Given the description of an element on the screen output the (x, y) to click on. 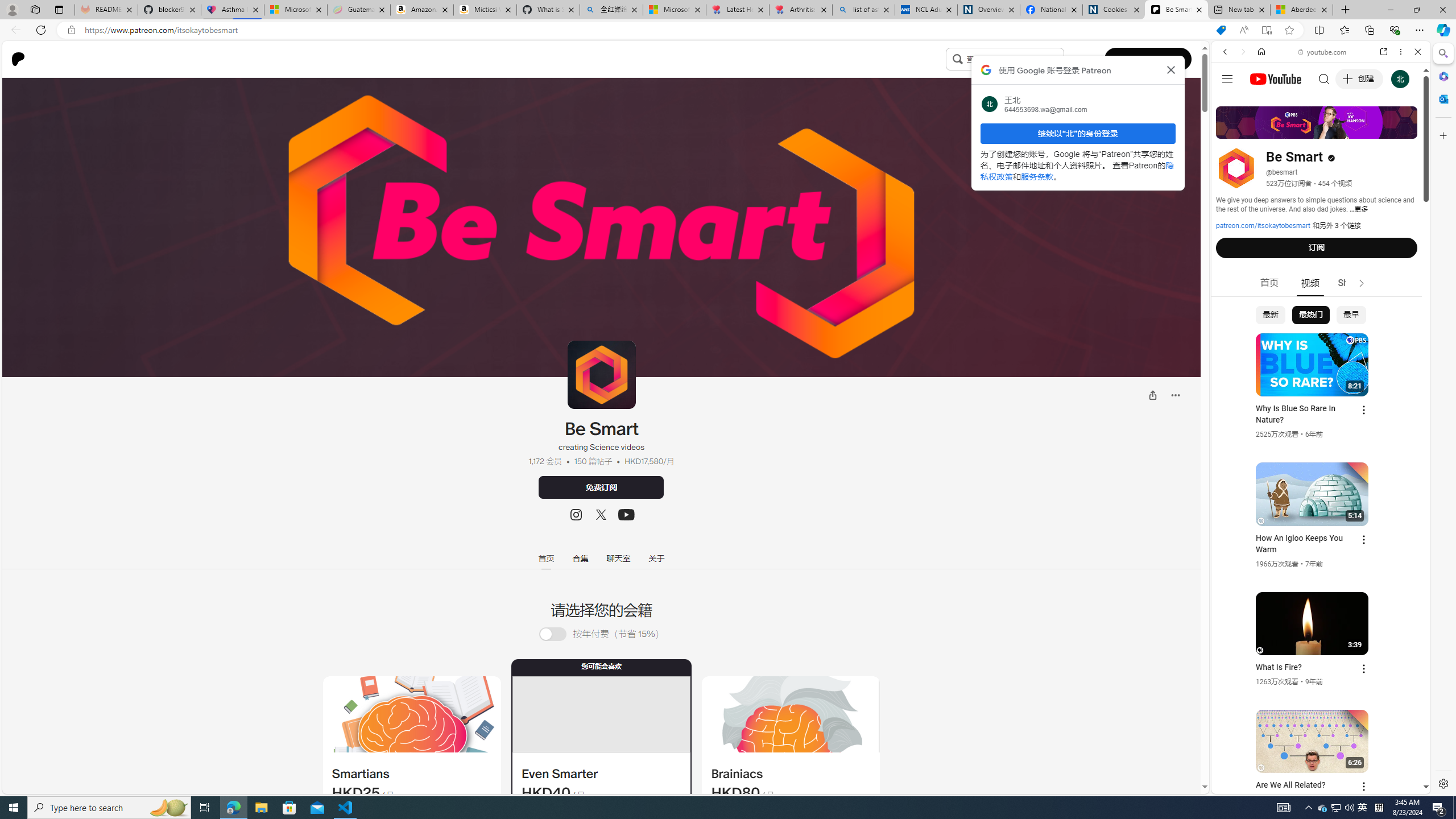
US[ju] (1249, 785)
Web scope (1230, 102)
Aberdeen, Hong Kong SAR hourly forecast | Microsoft Weather (1301, 9)
Shopping in Microsoft Edge (1220, 29)
Home (1261, 51)
Class: sc-jrQzAO HeRcC sc-1b5vbhn-1 hqVCmM (625, 514)
